Given the description of an element on the screen output the (x, y) to click on. 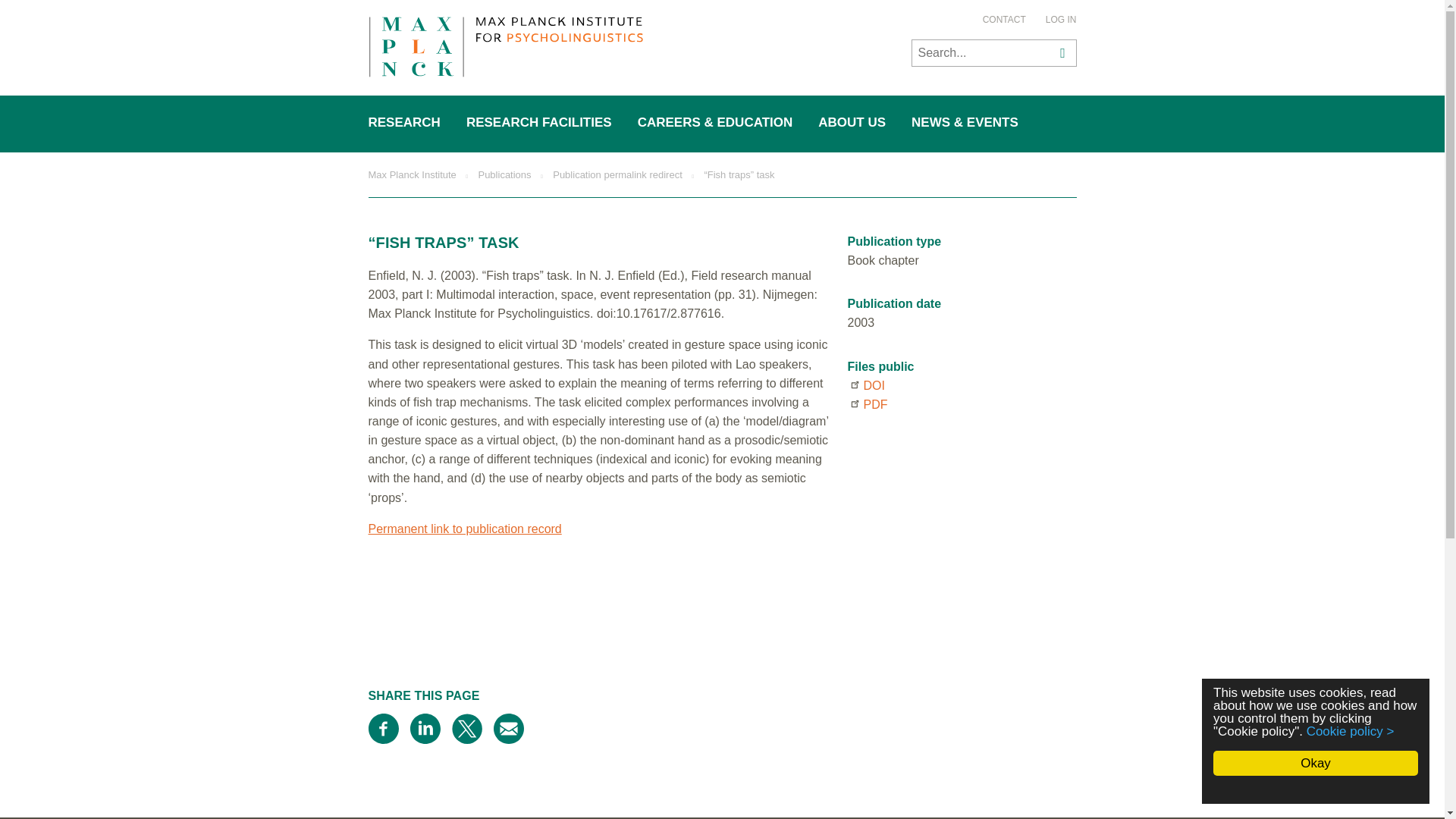
LOG IN (1061, 19)
Linkedin (424, 728)
CONTACT (1004, 19)
Publication permalink redirect (617, 174)
Publications (504, 174)
Facebook (383, 728)
Max Planck Institute (412, 174)
Twitter (466, 728)
Permanent link to publication record (465, 528)
RESEARCH (404, 122)
Home (505, 49)
ABOUT US (851, 122)
Okay (1315, 763)
Email (507, 728)
